Given the description of an element on the screen output the (x, y) to click on. 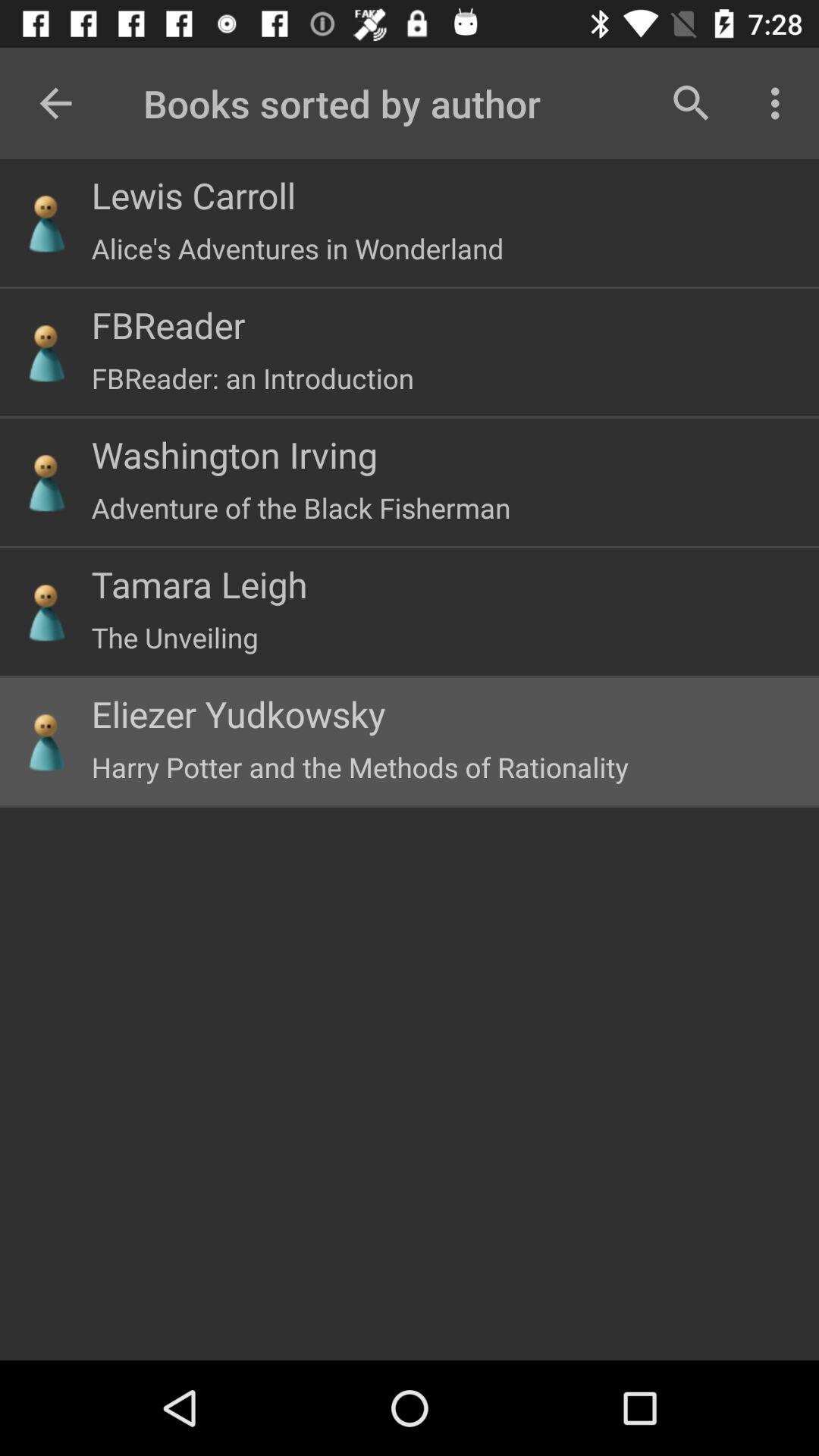
launch the icon above the unveiling (199, 584)
